Given the description of an element on the screen output the (x, y) to click on. 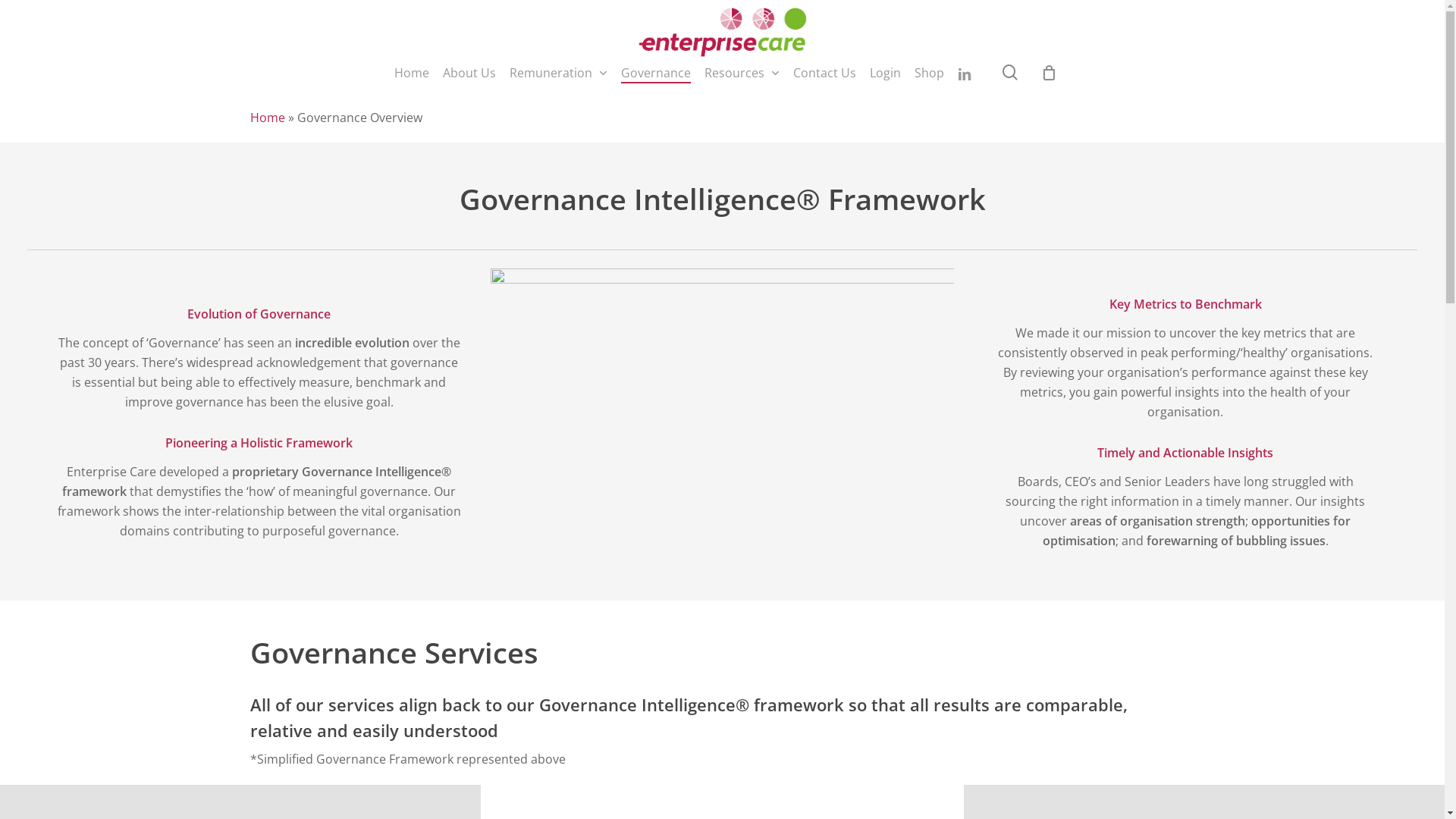
Contact Us Element type: text (824, 72)
Remuneration Element type: text (558, 72)
Home Element type: text (411, 72)
linkedin Element type: text (964, 72)
search Element type: text (1010, 72)
About Us Element type: text (468, 72)
Governance Element type: text (655, 72)
Shop Element type: text (929, 72)
Resources Element type: text (741, 72)
Home Element type: text (267, 117)
Login Element type: text (884, 72)
